Given the description of an element on the screen output the (x, y) to click on. 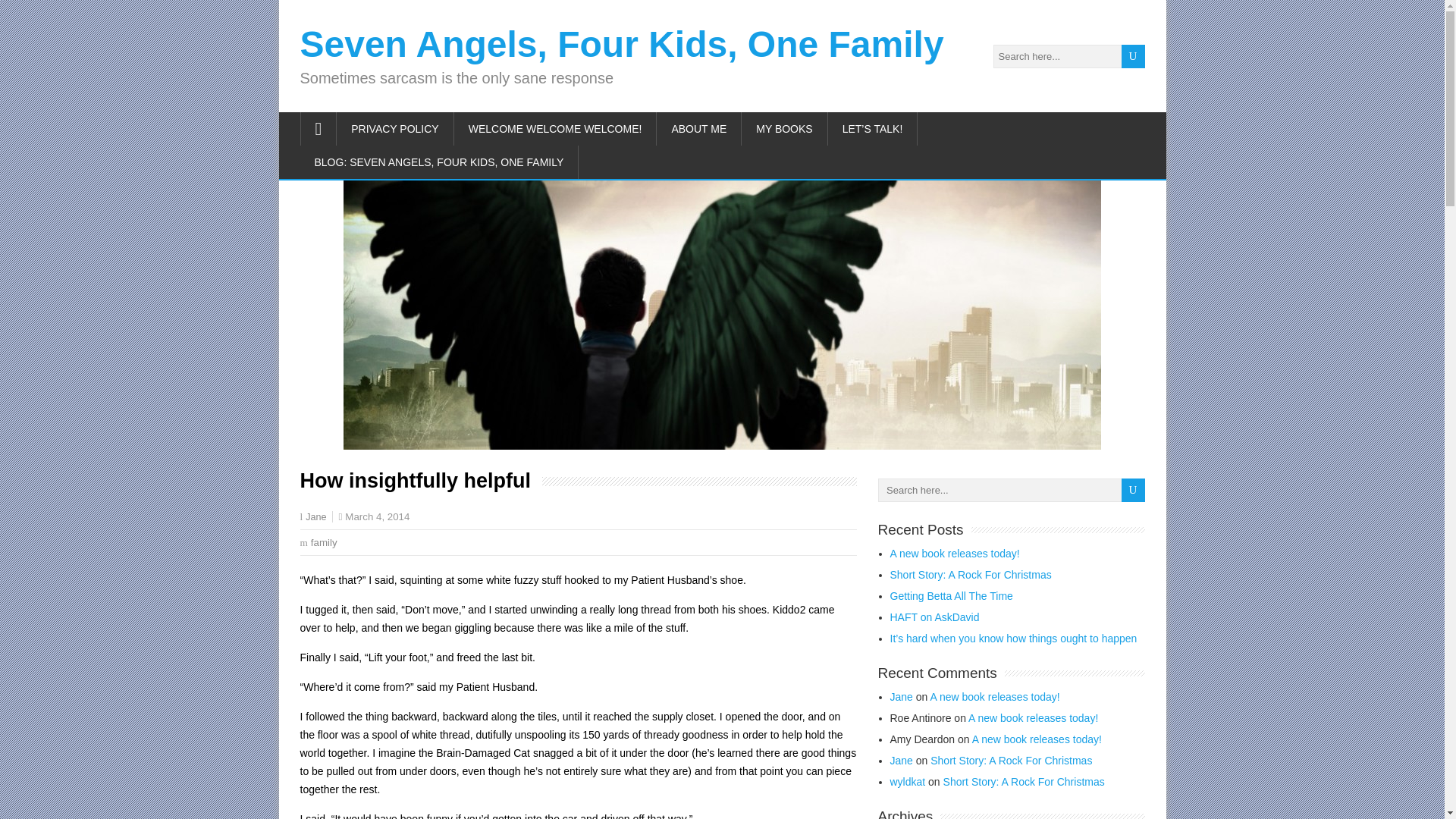
WELCOME WELCOME WELCOME! (556, 128)
U (1132, 490)
ABOUT ME (698, 128)
A new book releases today! (994, 696)
BLOG: SEVEN ANGELS, FOUR KIDS, ONE FAMILY (439, 162)
Seven Angels, Four Kids, One Family (621, 44)
U (1132, 490)
Jane (900, 696)
U (1132, 56)
family (324, 542)
Jane (315, 516)
Posts by Jane (315, 516)
HAFT on AskDavid (934, 616)
U (1132, 490)
MY BOOKS (784, 128)
